Given the description of an element on the screen output the (x, y) to click on. 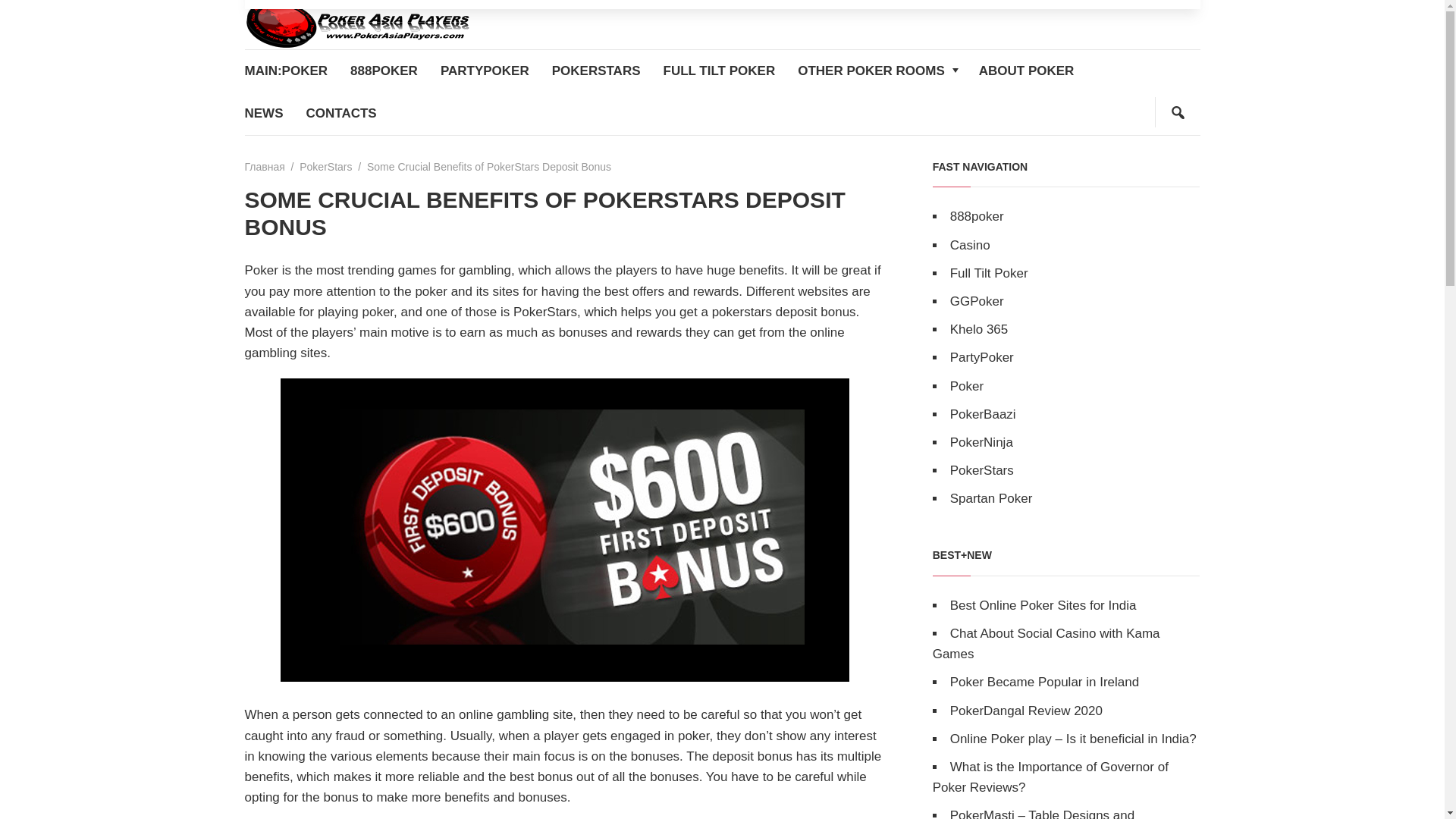
888POKER (395, 70)
FULL TILT POKER (730, 70)
MAIN:POKER (297, 70)
POKERSTARS (607, 70)
PARTYPOKER (496, 70)
POKER ASIA PLAYERS (357, 24)
OTHER POKER ROOMS (887, 70)
